Given the description of an element on the screen output the (x, y) to click on. 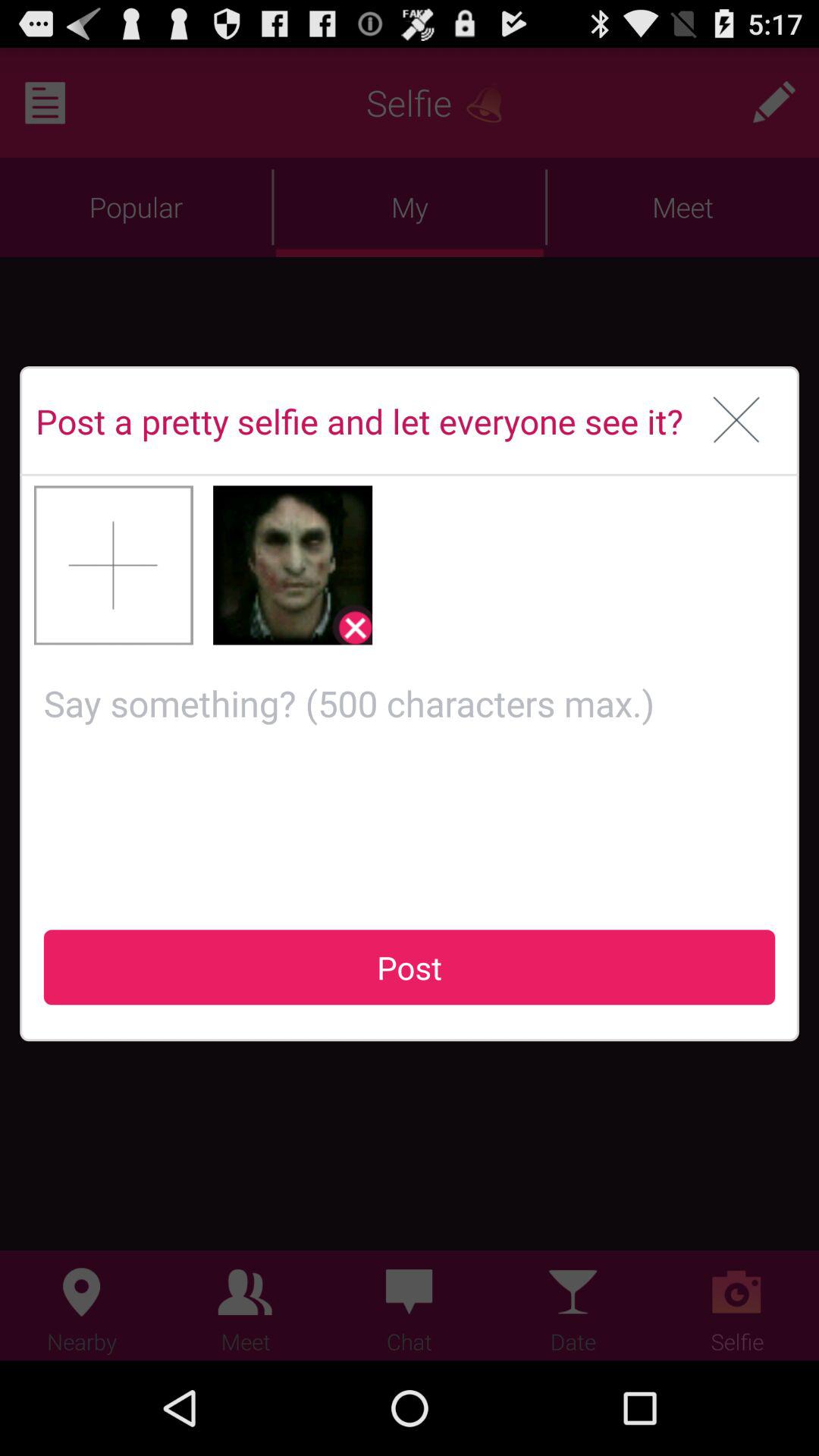
turn on icon on the left (113, 564)
